Given the description of an element on the screen output the (x, y) to click on. 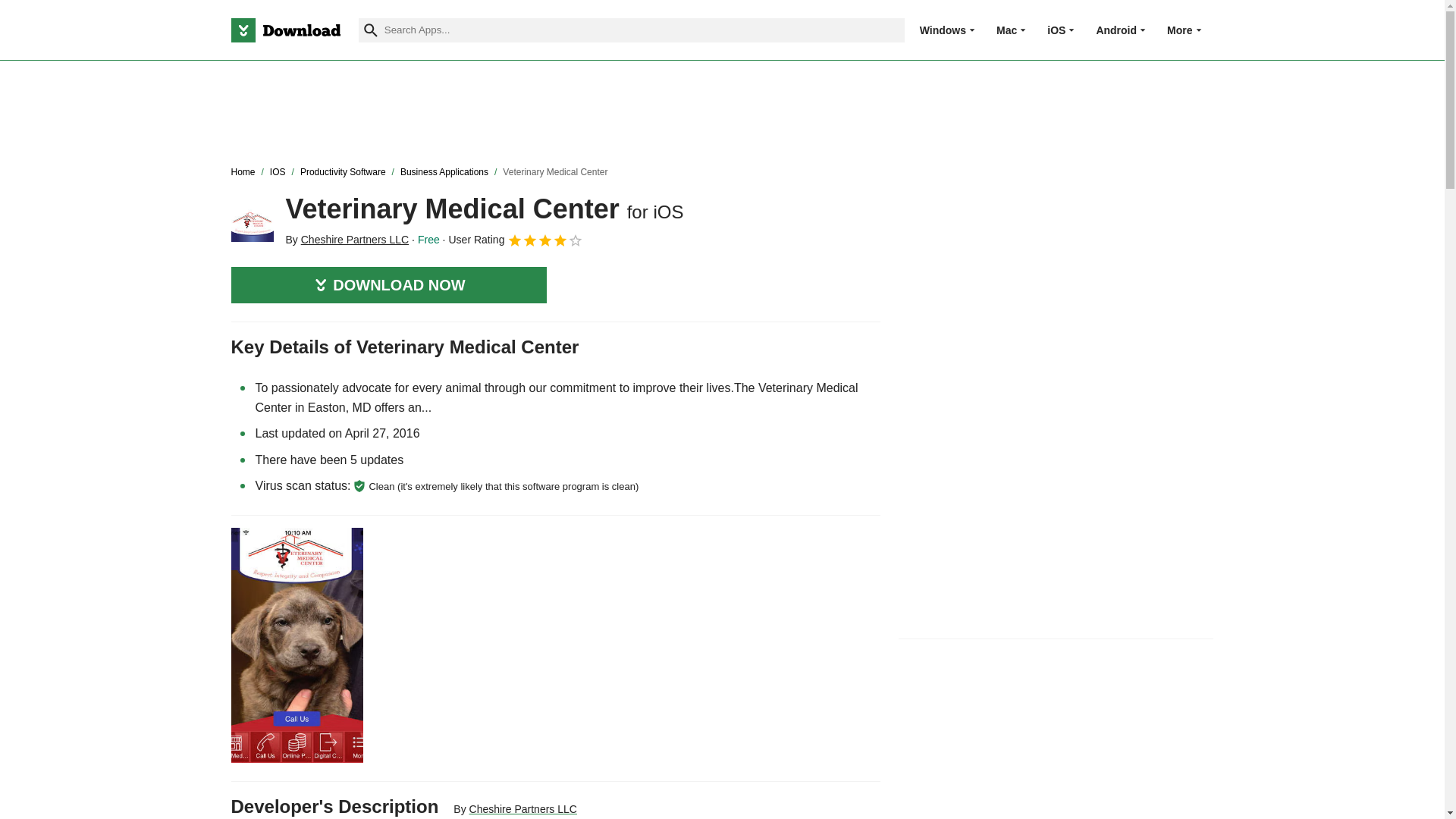
Mac (1005, 29)
Windows (943, 29)
Veterinary Medical Center for iOS (251, 220)
